Given the description of an element on the screen output the (x, y) to click on. 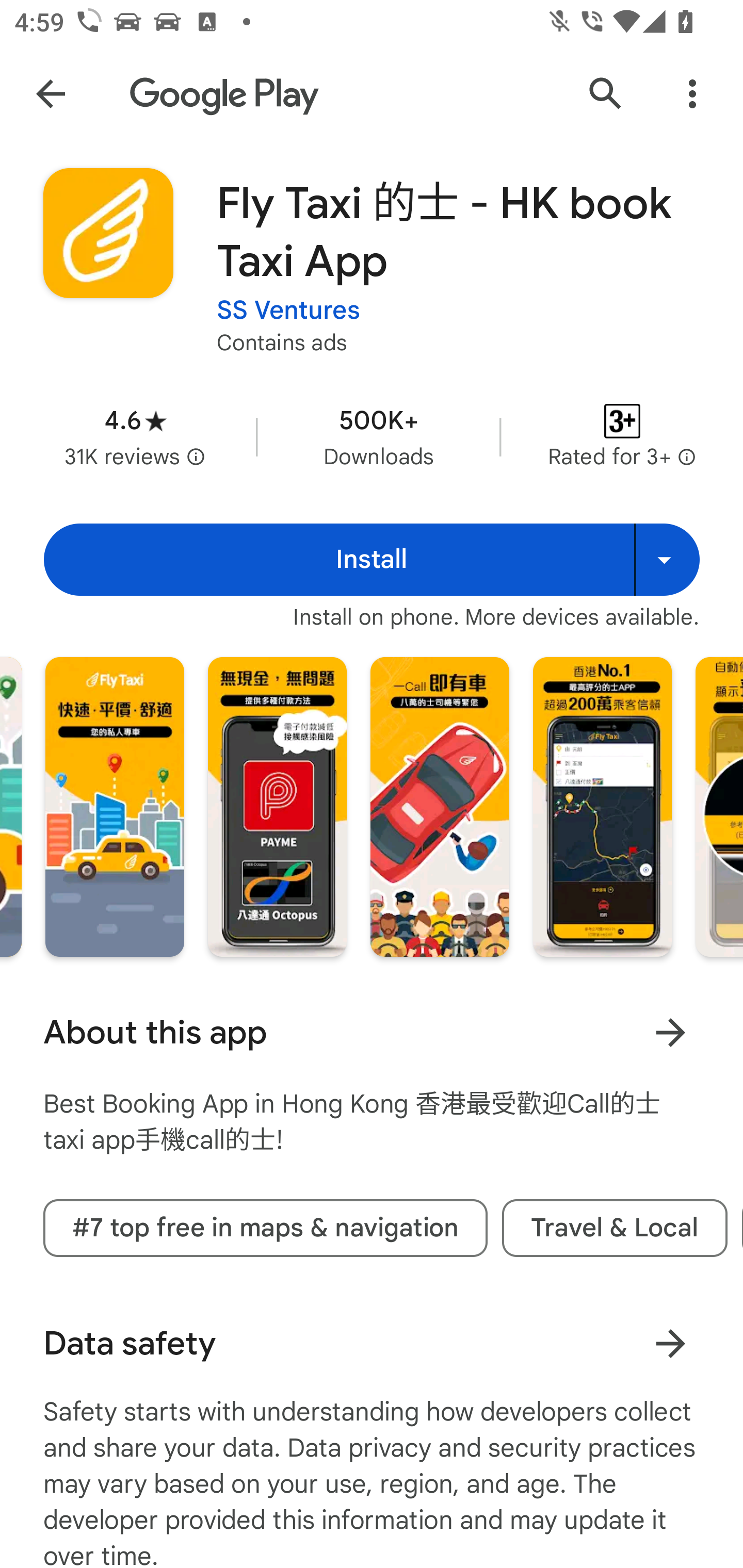
Navigate up (50, 93)
Search Google Play (605, 93)
More Options (692, 93)
SS Ventures (288, 310)
Average rating 4.6 stars in 31 thousand reviews (135, 436)
Content rating Rated for 3+ (622, 436)
Install Install Install on more devices (371, 559)
Install on more devices (667, 559)
Screenshot "1" of "8" (114, 806)
Screenshot "2" of "8" (277, 806)
Screenshot "3" of "8" (439, 806)
Screenshot "4" of "8" (601, 806)
About this app Learn more About this app (371, 1032)
Learn more About this app (670, 1032)
#7 top free in maps & navigation tag (265, 1228)
Travel & Local tag (614, 1228)
Data safety Learn more about data safety (371, 1343)
Learn more about data safety (670, 1343)
